Given the description of an element on the screen output the (x, y) to click on. 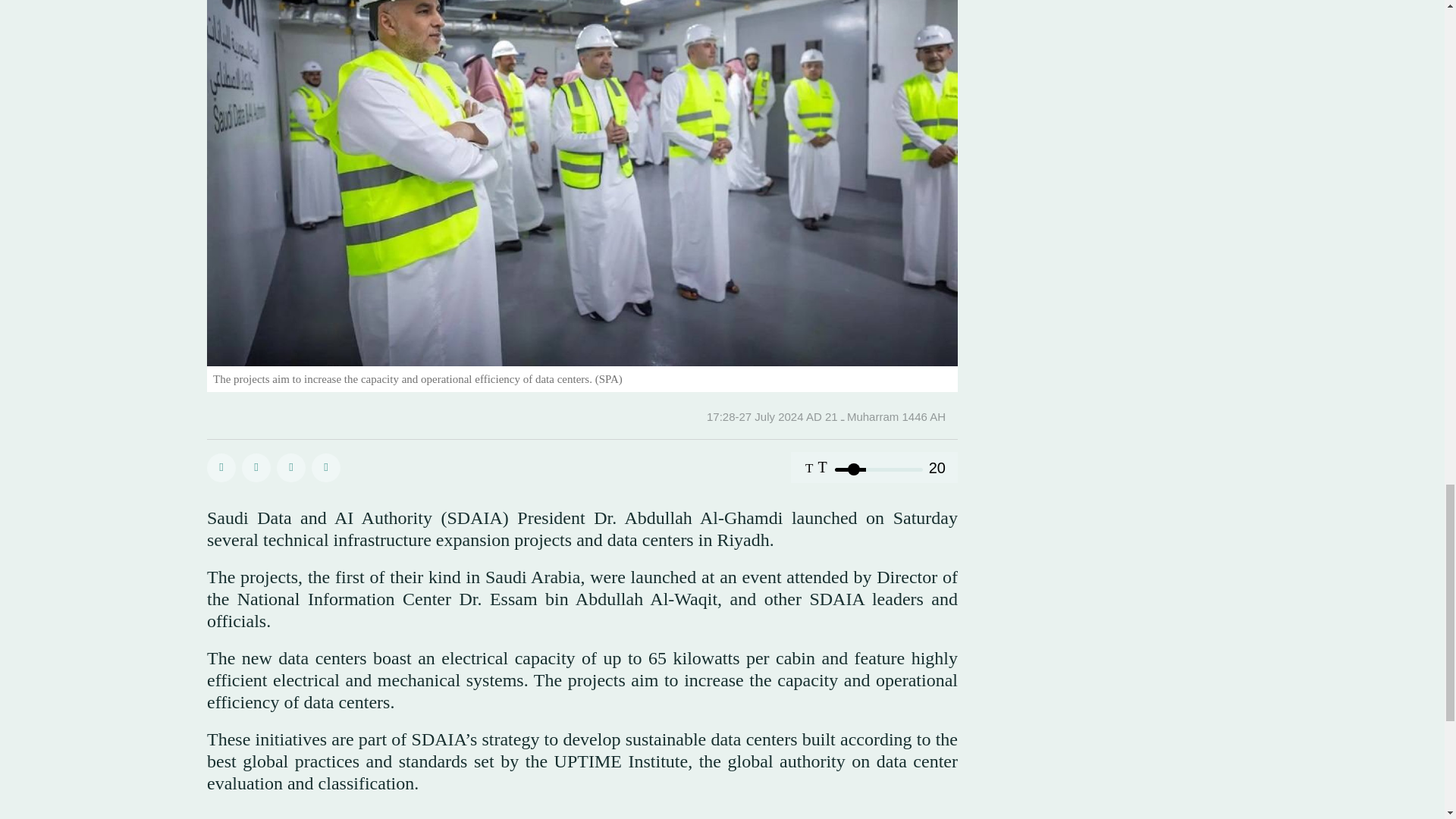
20 (878, 469)
